Given the description of an element on the screen output the (x, y) to click on. 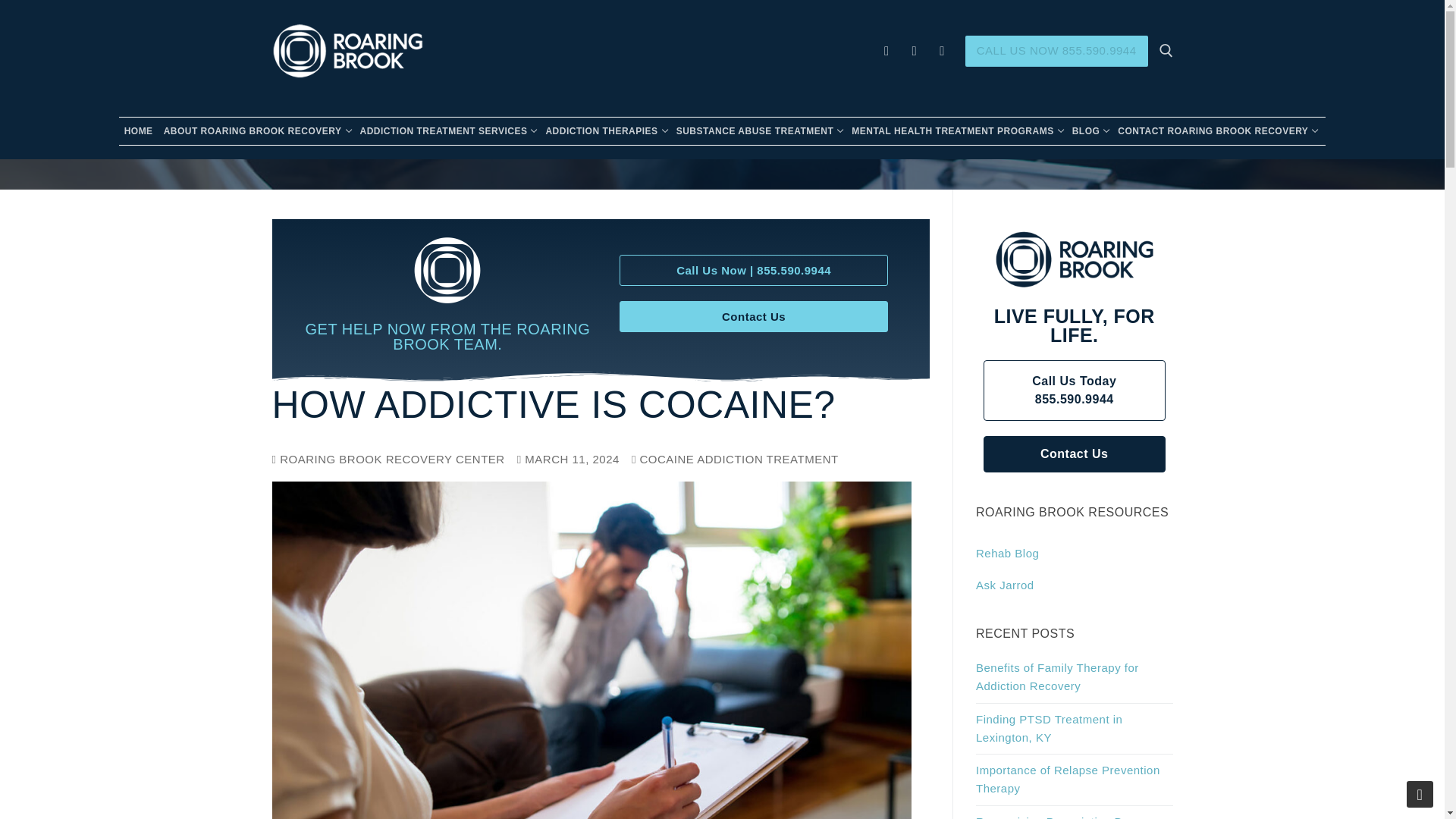
Instagram (447, 130)
HOME (913, 51)
Facebook (139, 130)
Addiction Therapy Programs (256, 130)
Substance Abuse Treatment Programs (886, 51)
LinkedIn (605, 130)
CALL US NOW 855.590.9944 (758, 130)
Rehab Blog (758, 130)
